Given the description of an element on the screen output the (x, y) to click on. 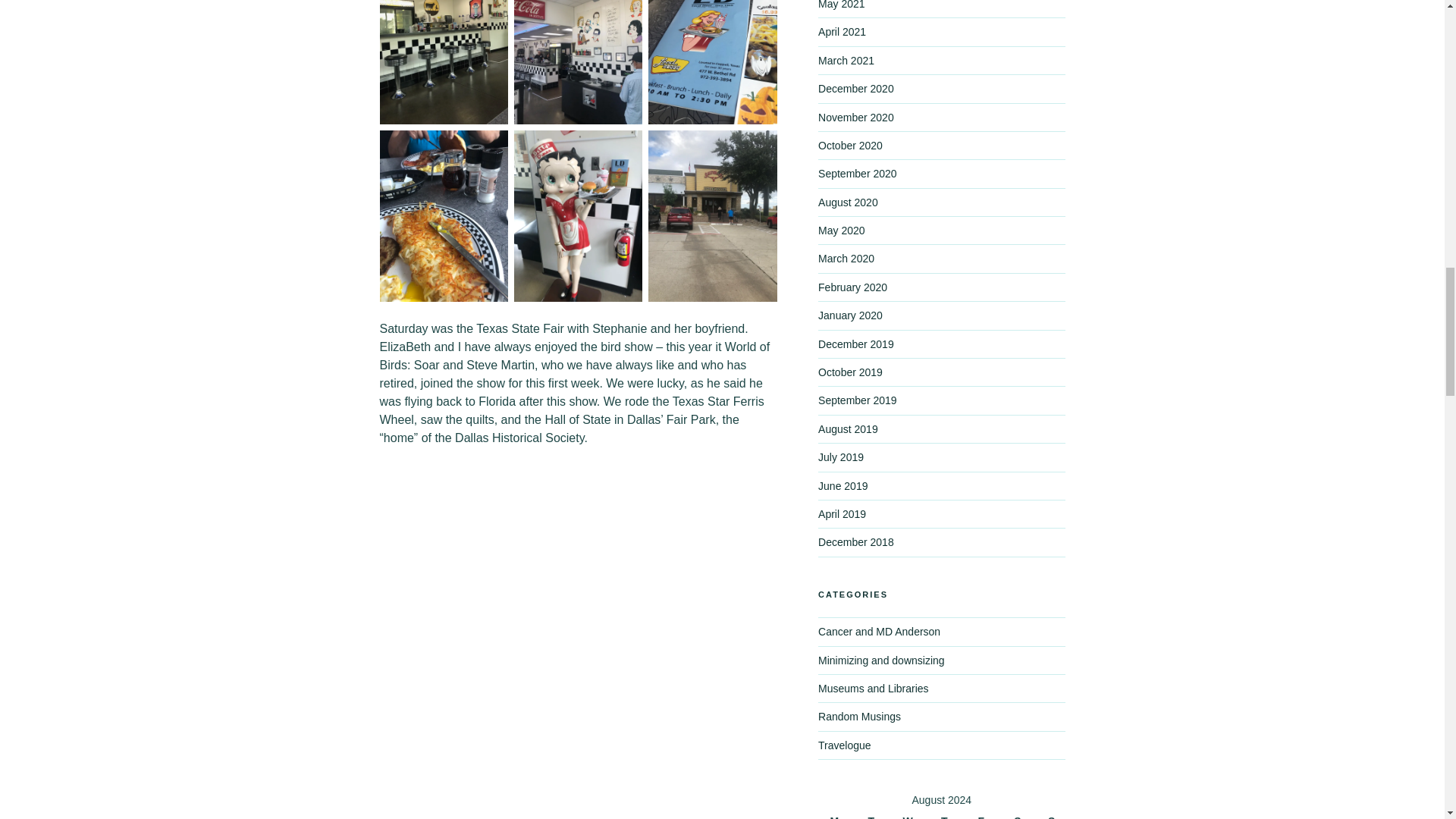
Tuesday (872, 813)
Wednesday (909, 813)
Friday (982, 813)
Monday (836, 813)
Thursday (945, 813)
Saturday (1019, 813)
Sunday (1051, 813)
